Given the description of an element on the screen output the (x, y) to click on. 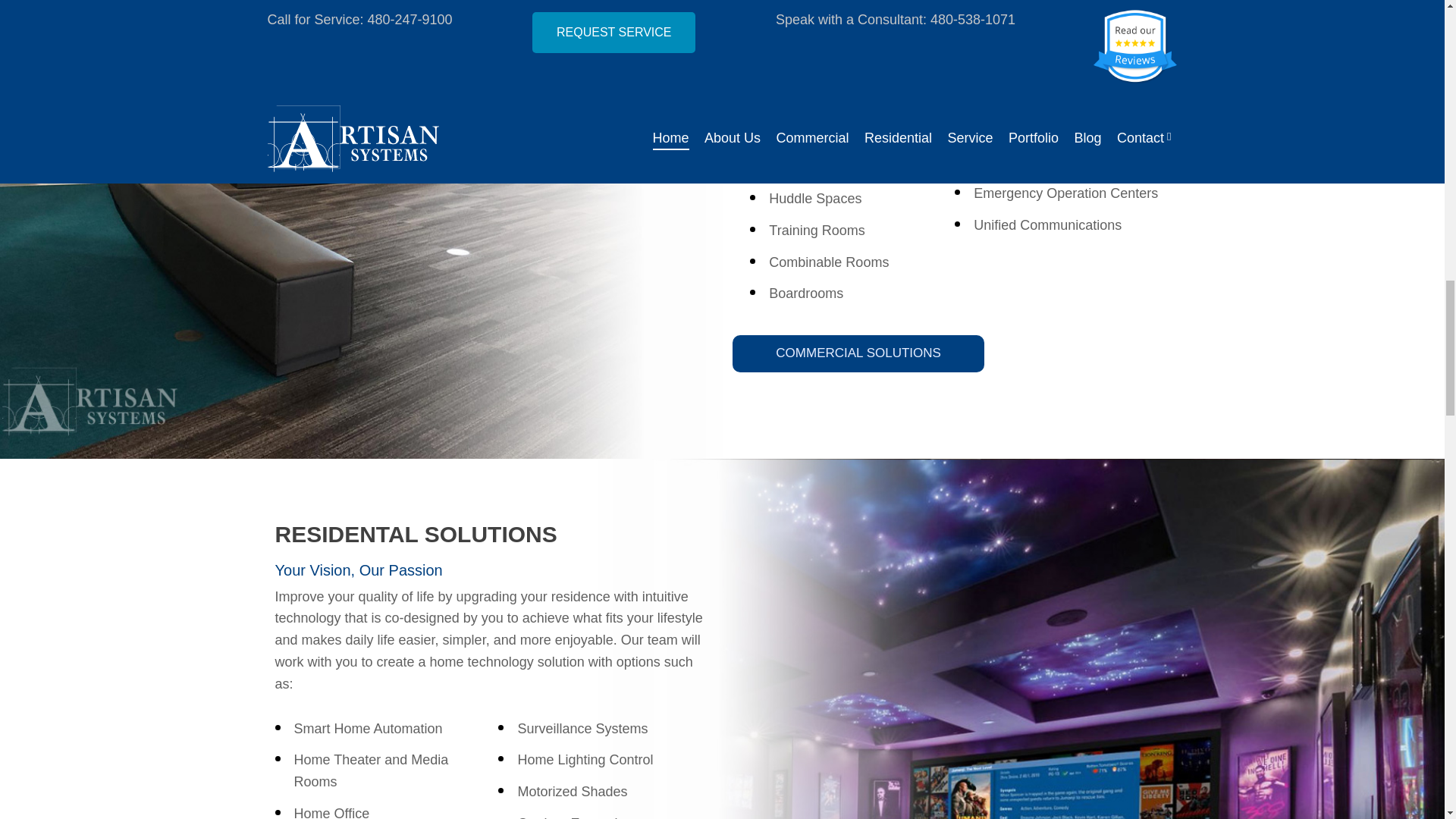
COMMERCIAL SOLUTIONS (858, 352)
